Given the description of an element on the screen output the (x, y) to click on. 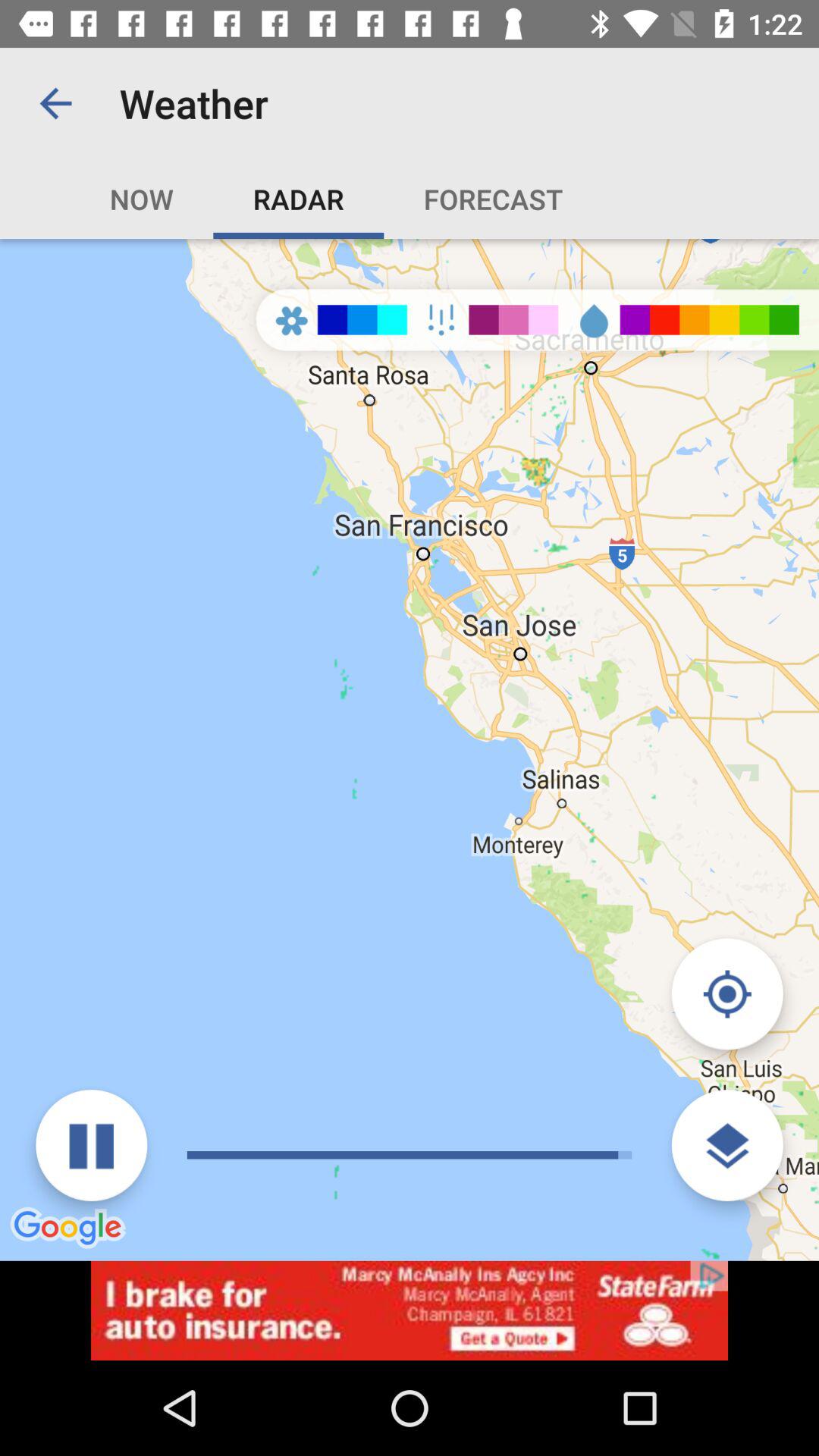
pause (91, 1145)
